Given the description of an element on the screen output the (x, y) to click on. 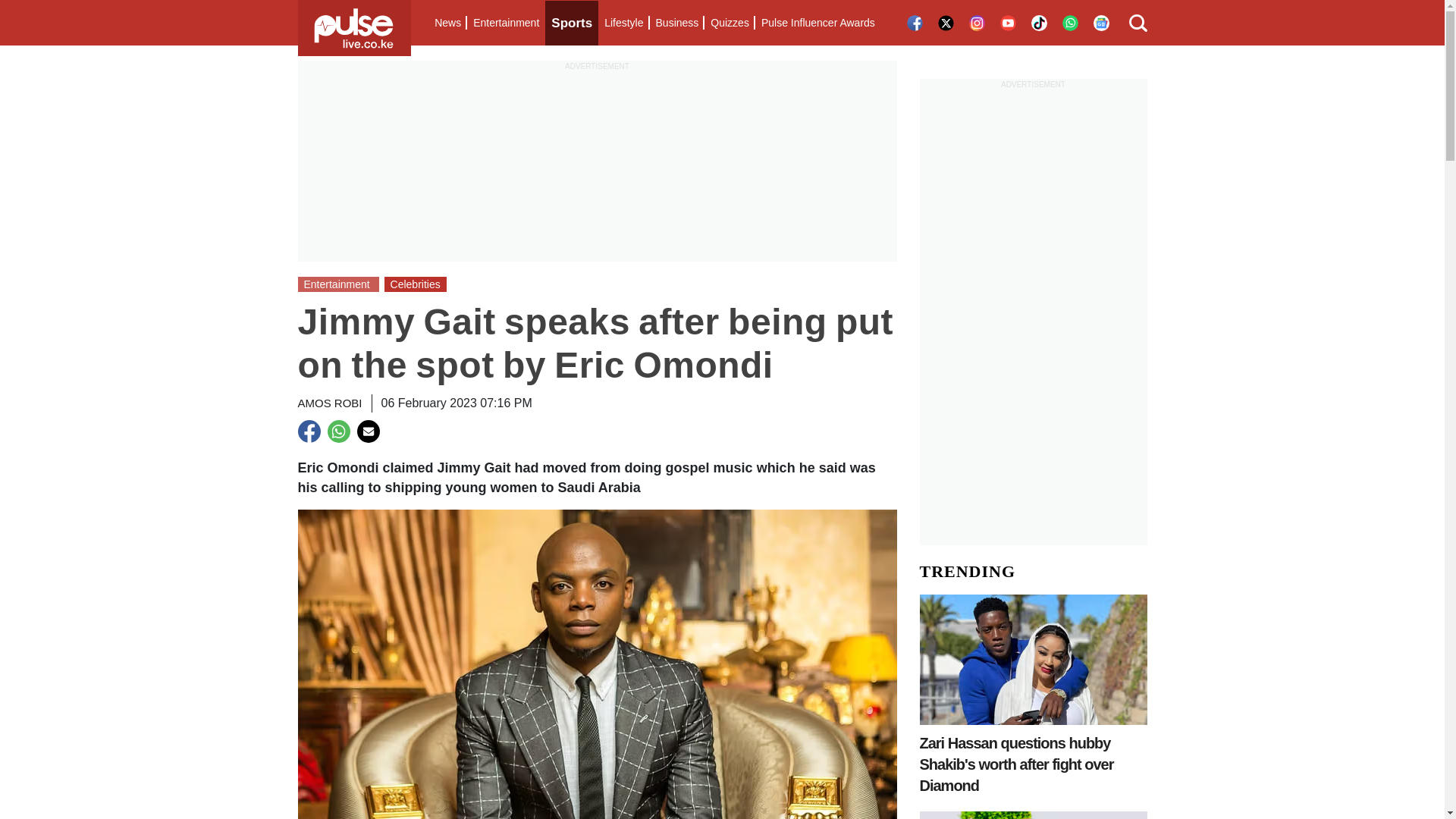
Entertainment (505, 22)
Quizzes (729, 22)
Lifestyle (623, 22)
Pulse Influencer Awards (817, 22)
Sports (571, 22)
Business (676, 22)
